Given the description of an element on the screen output the (x, y) to click on. 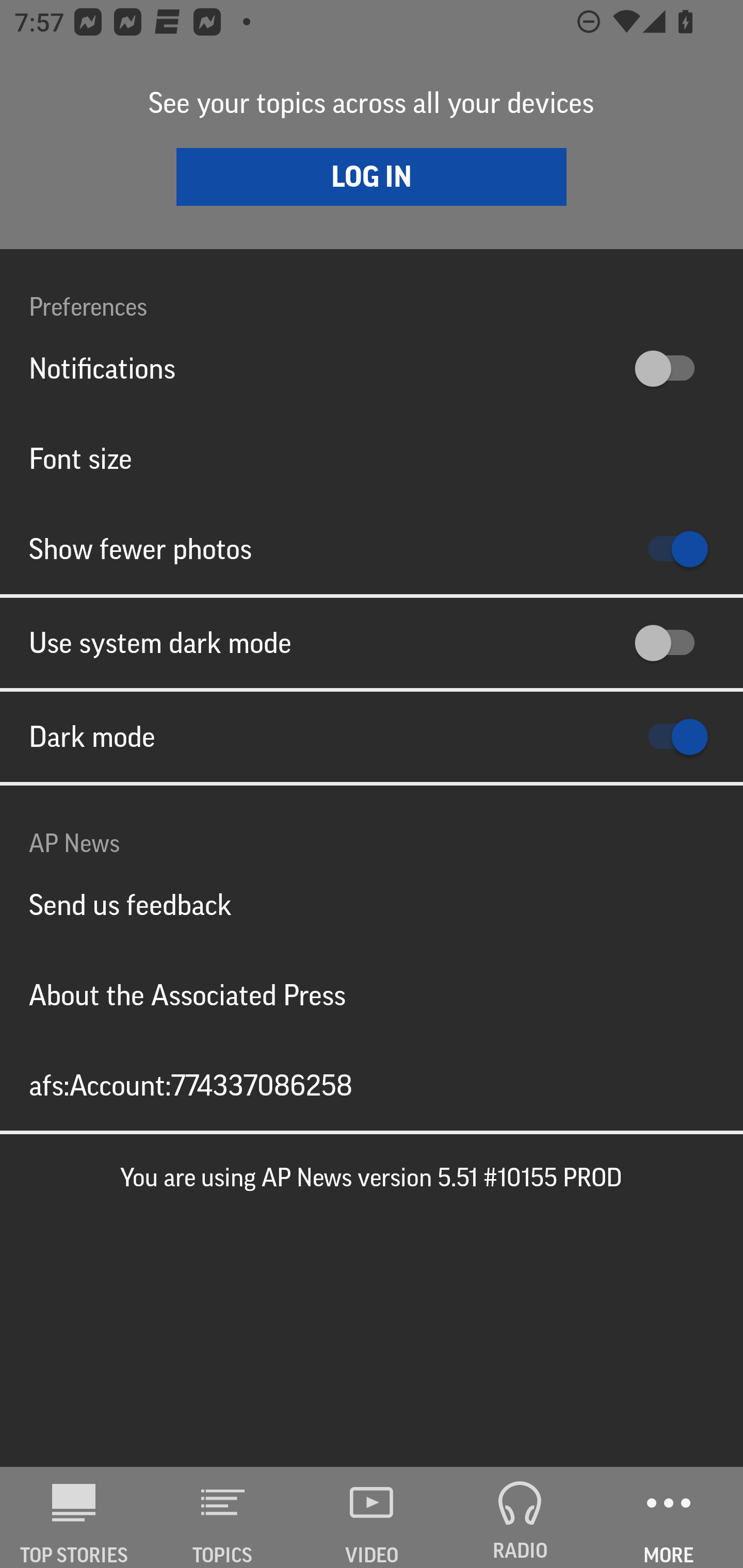
LOG IN (371, 176)
Notifications (371, 368)
Font size (371, 458)
Show fewer photos (371, 548)
Use system dark mode (371, 642)
Dark mode (371, 736)
Send us feedback (371, 904)
About the Associated Press (371, 994)
afs:Account:774337086258 (371, 1084)
AP News TOP STORIES (74, 1517)
TOPICS (222, 1517)
VIDEO (371, 1517)
RADIO (519, 1517)
MORE (668, 1517)
